Given the description of an element on the screen output the (x, y) to click on. 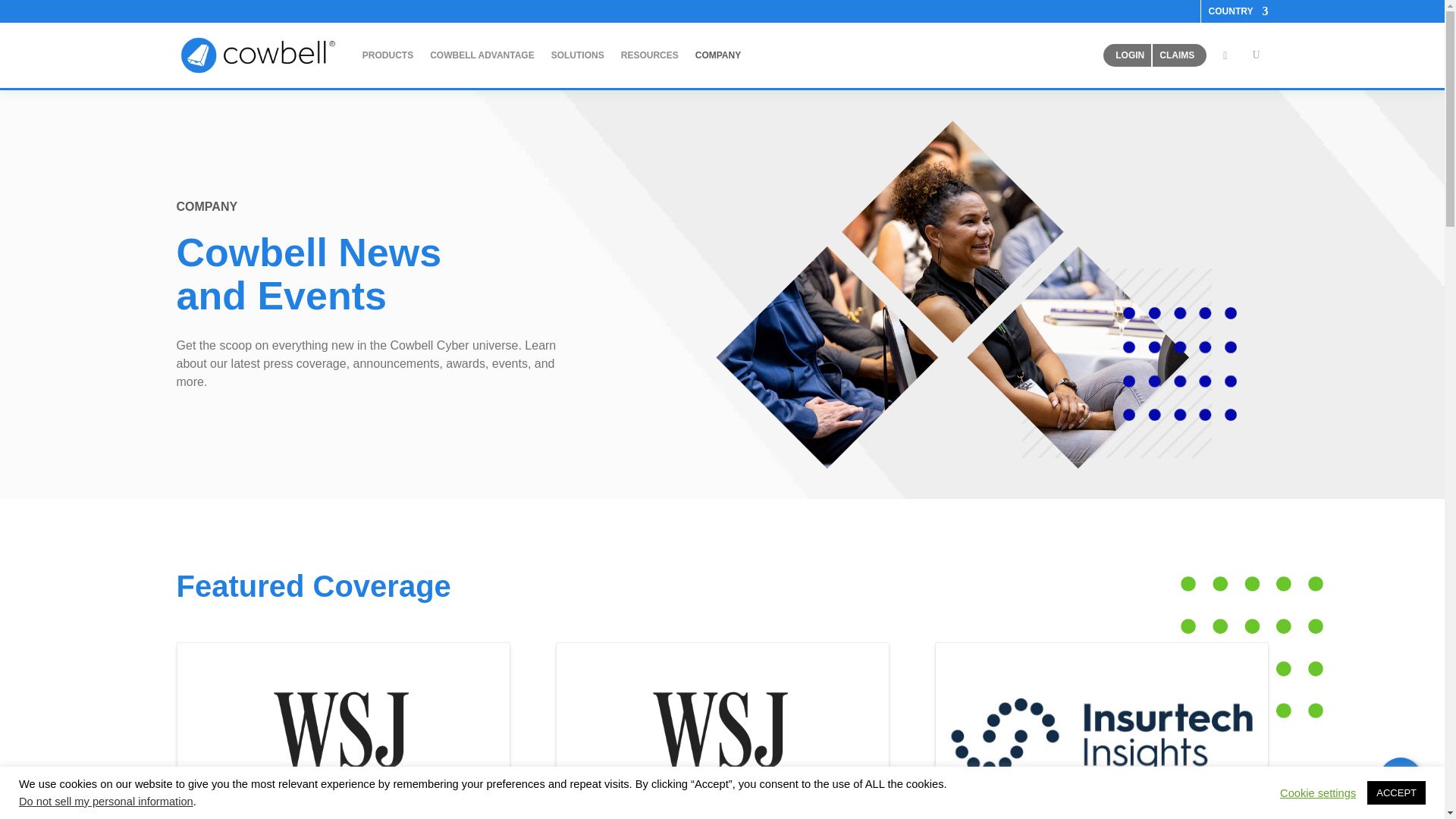
COUNTRY (1238, 13)
WSJ (343, 730)
GreenDots (1251, 647)
SapphireDots (1179, 363)
WSJ (722, 730)
ThinLines (1116, 362)
COWBELL ADVANTAGE (481, 54)
